Given the description of an element on the screen output the (x, y) to click on. 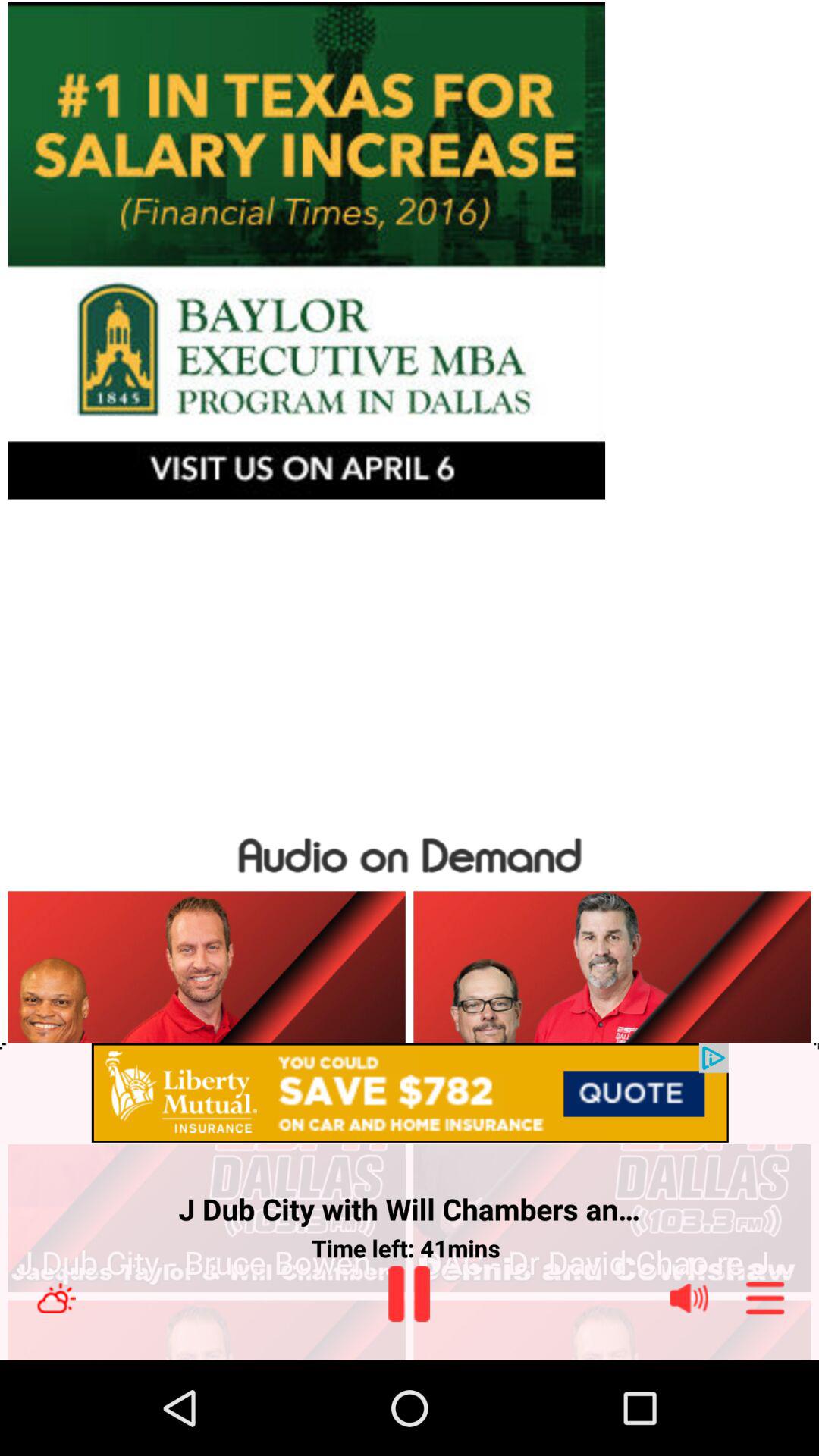
pauses video (408, 1293)
